Given the description of an element on the screen output the (x, y) to click on. 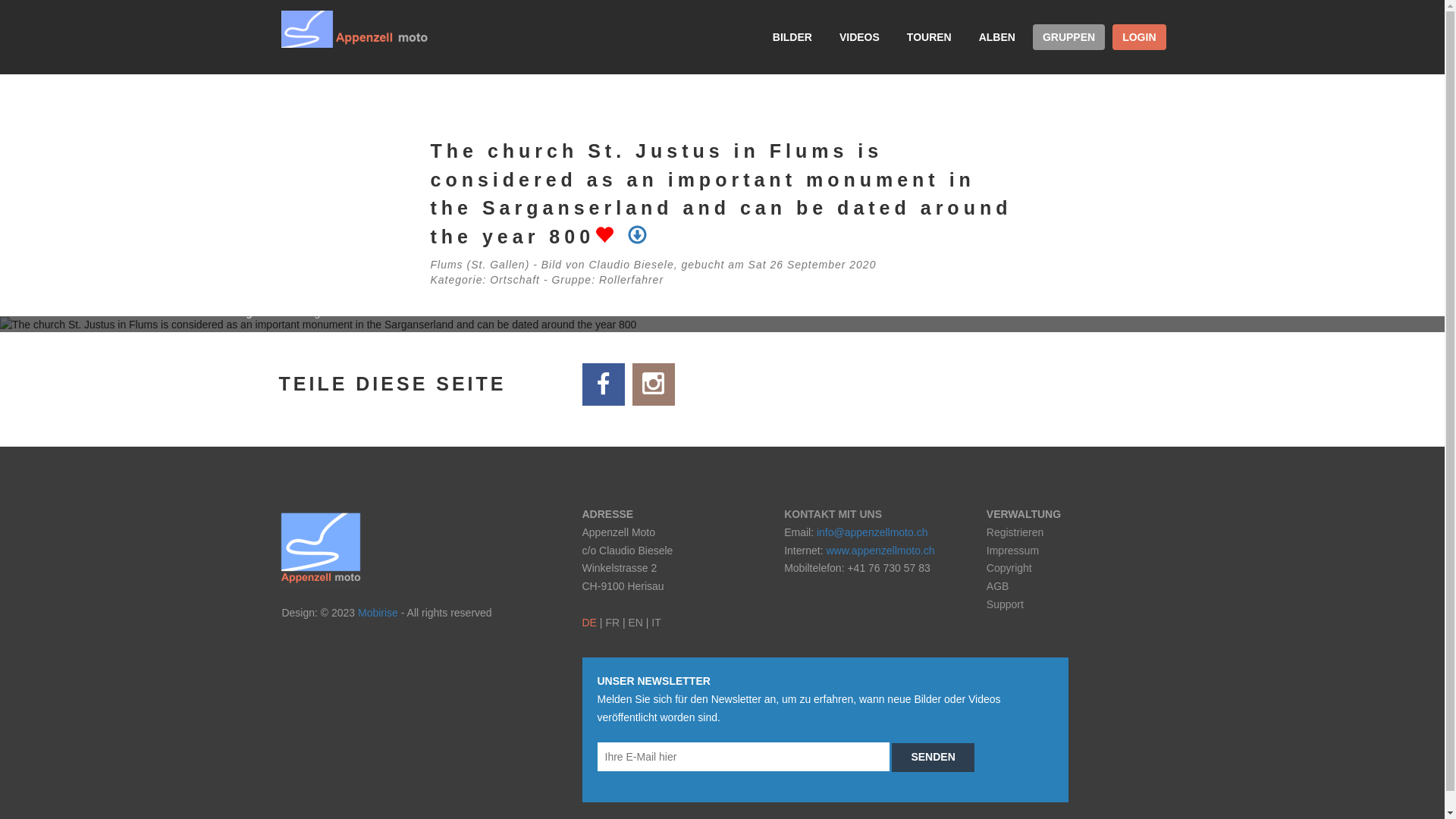
Copyright Element type: text (1009, 567)
Registrieren Element type: text (1014, 532)
  Element type: text (439, 28)
BILDER Element type: text (792, 37)
KONTAKT MIT UNS Element type: text (832, 514)
Share link on Facebook Element type: hover (603, 384)
EN Element type: text (634, 622)
GRUPPEN Element type: text (1064, 40)
SENDEN Element type: text (932, 757)
AGB Element type: text (997, 586)
Bild kostenlos downloaden Element type: hover (639, 236)
www.appenzellmoto.ch Element type: text (879, 550)
VIDEOS Element type: text (859, 37)
ALBEN Element type: text (997, 37)
Email Element type: hover (743, 756)
TOUREN Element type: text (929, 37)
info@appenzellmoto.ch Element type: text (872, 532)
FR Element type: text (612, 622)
Impressum Element type: text (1012, 550)
Support Element type: text (1004, 604)
LOGIN Element type: text (1138, 37)
Appenzell Moto Home Element type: hover (354, 29)
Share link on Instagram Element type: hover (653, 384)
IT Element type: text (655, 622)
Mobirise Element type: text (377, 612)
